Given the description of an element on the screen output the (x, y) to click on. 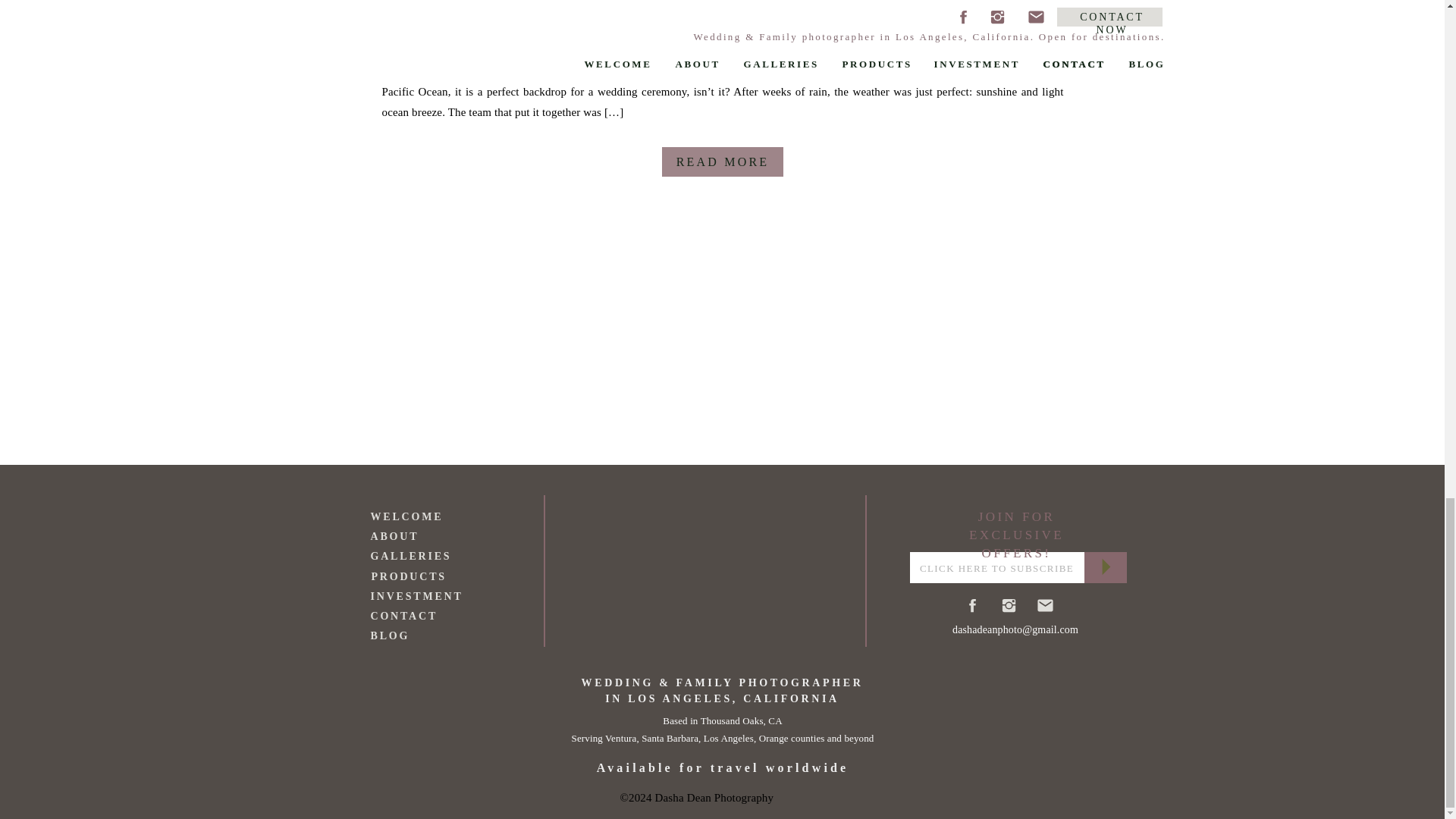
READ MORE (721, 167)
